Given the description of an element on the screen output the (x, y) to click on. 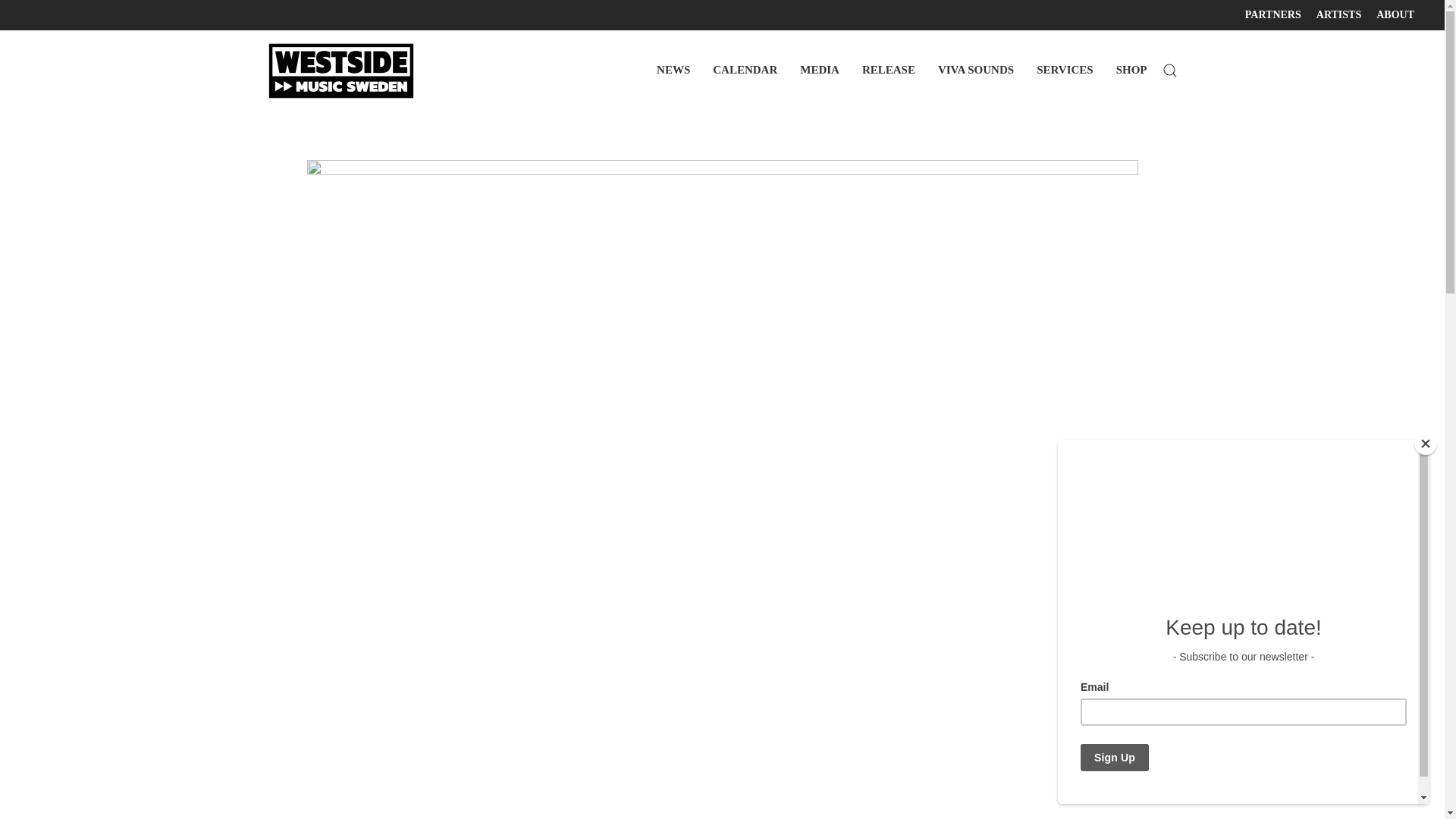
ABOUT (1394, 14)
VIVA SOUNDS (975, 70)
PARTNERS (1272, 14)
ARTISTS (1338, 14)
